Given the description of an element on the screen output the (x, y) to click on. 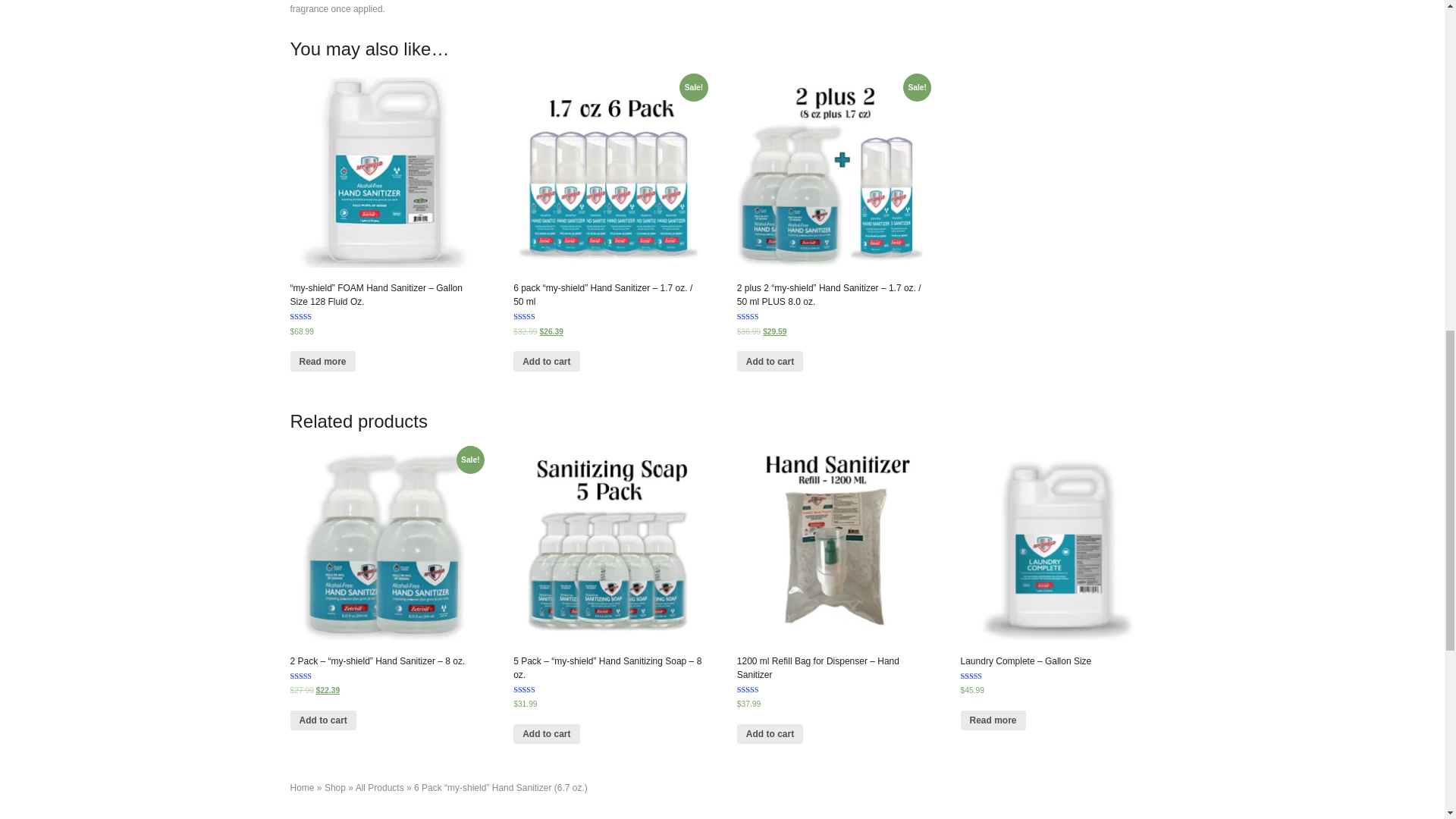
Shop (335, 787)
All Products (379, 787)
Home (301, 787)
